Given the description of an element on the screen output the (x, y) to click on. 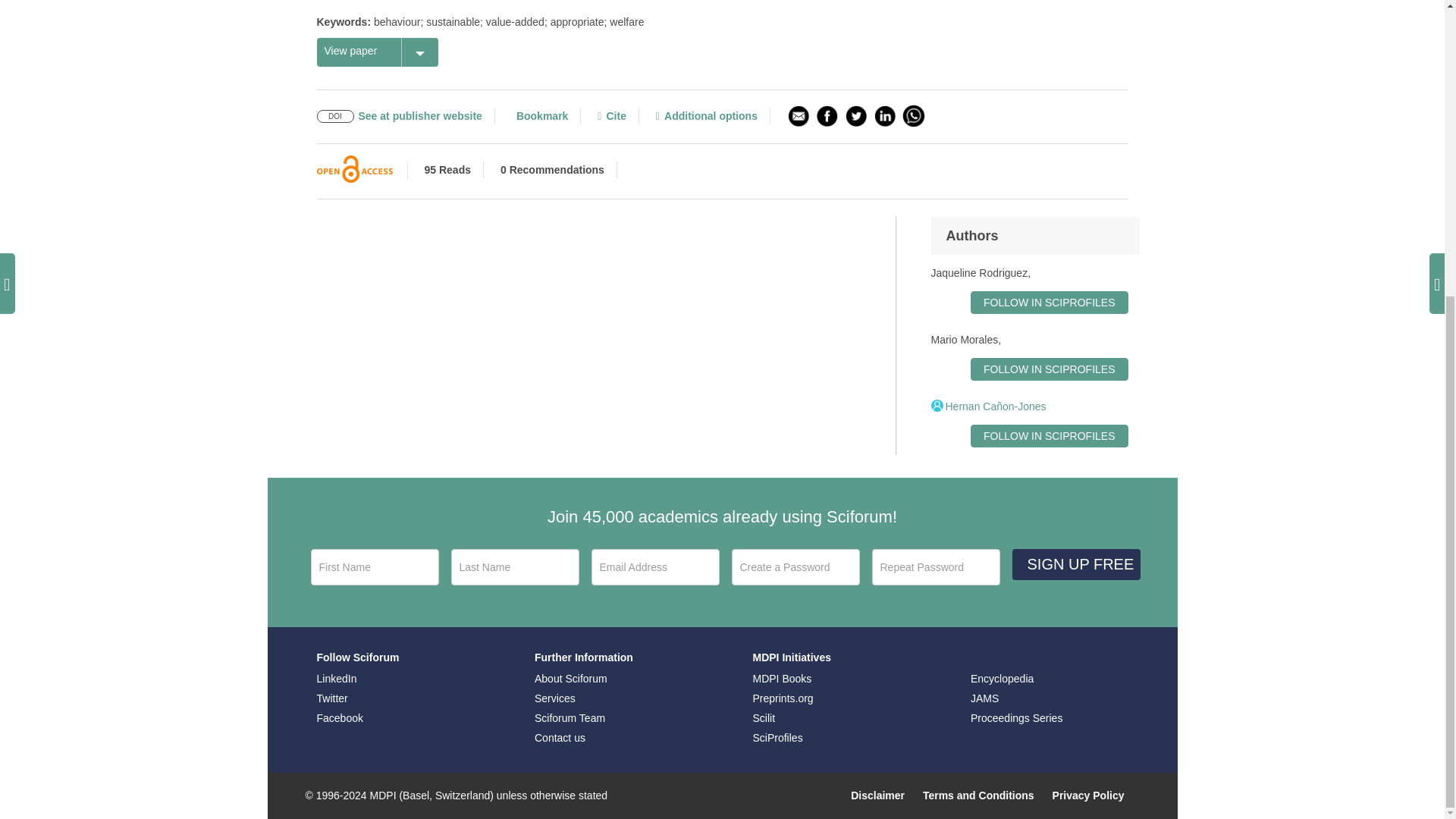
Sign Up Free (1075, 563)
Last name (513, 566)
Email (655, 566)
Confirm password (936, 566)
First name (375, 566)
